Given the description of an element on the screen output the (x, y) to click on. 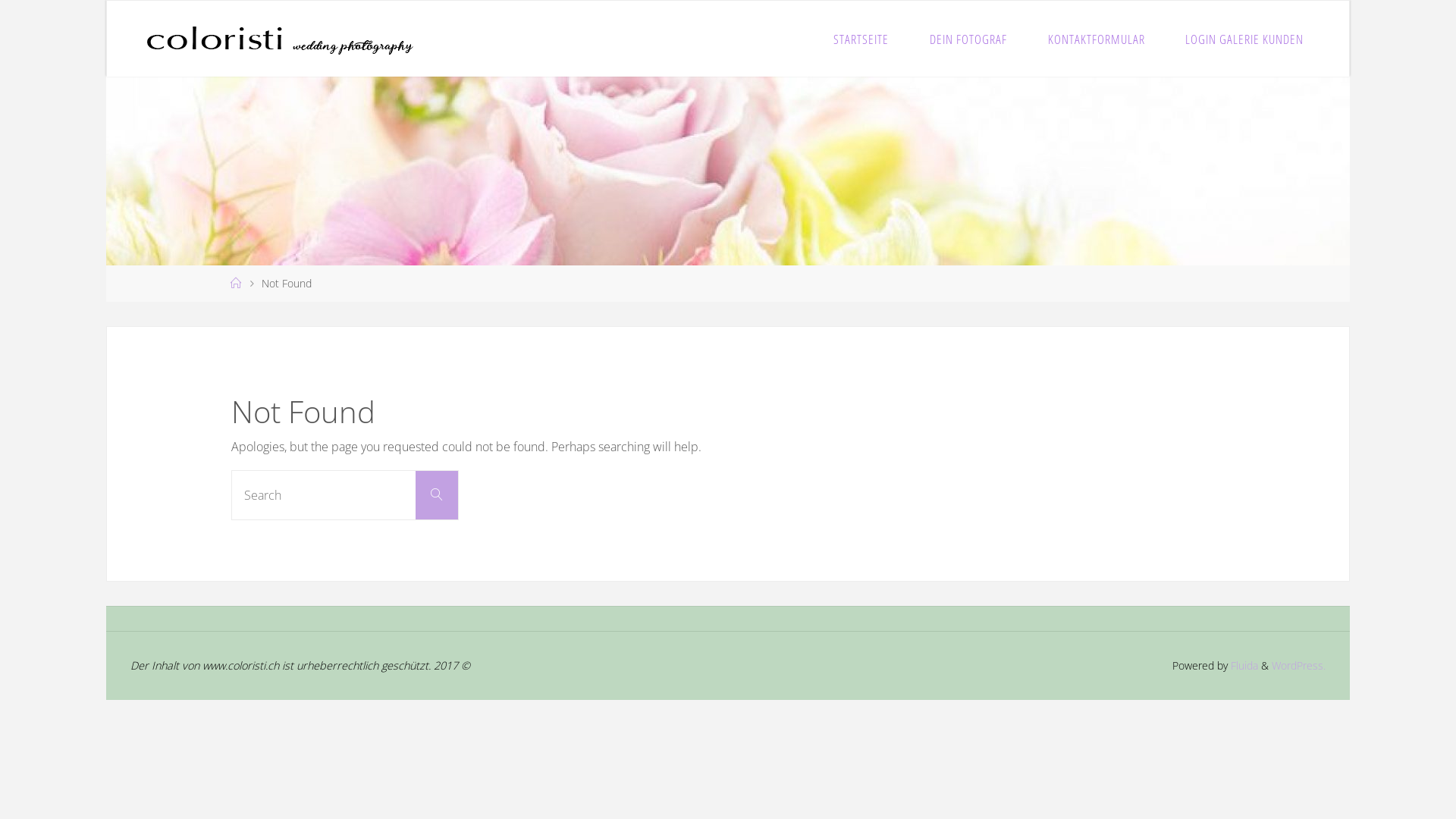
Search Element type: text (436, 494)
Fluida Element type: text (1242, 665)
Home Element type: text (235, 283)
WordPress. Element type: text (1298, 665)
STARTSEITE Element type: text (860, 38)
KONTAKTFORMULAR Element type: text (1096, 38)
LOGIN GALERIE KUNDEN Element type: text (1244, 38)
DEIN FOTOGRAF Element type: text (968, 38)
